Given the description of an element on the screen output the (x, y) to click on. 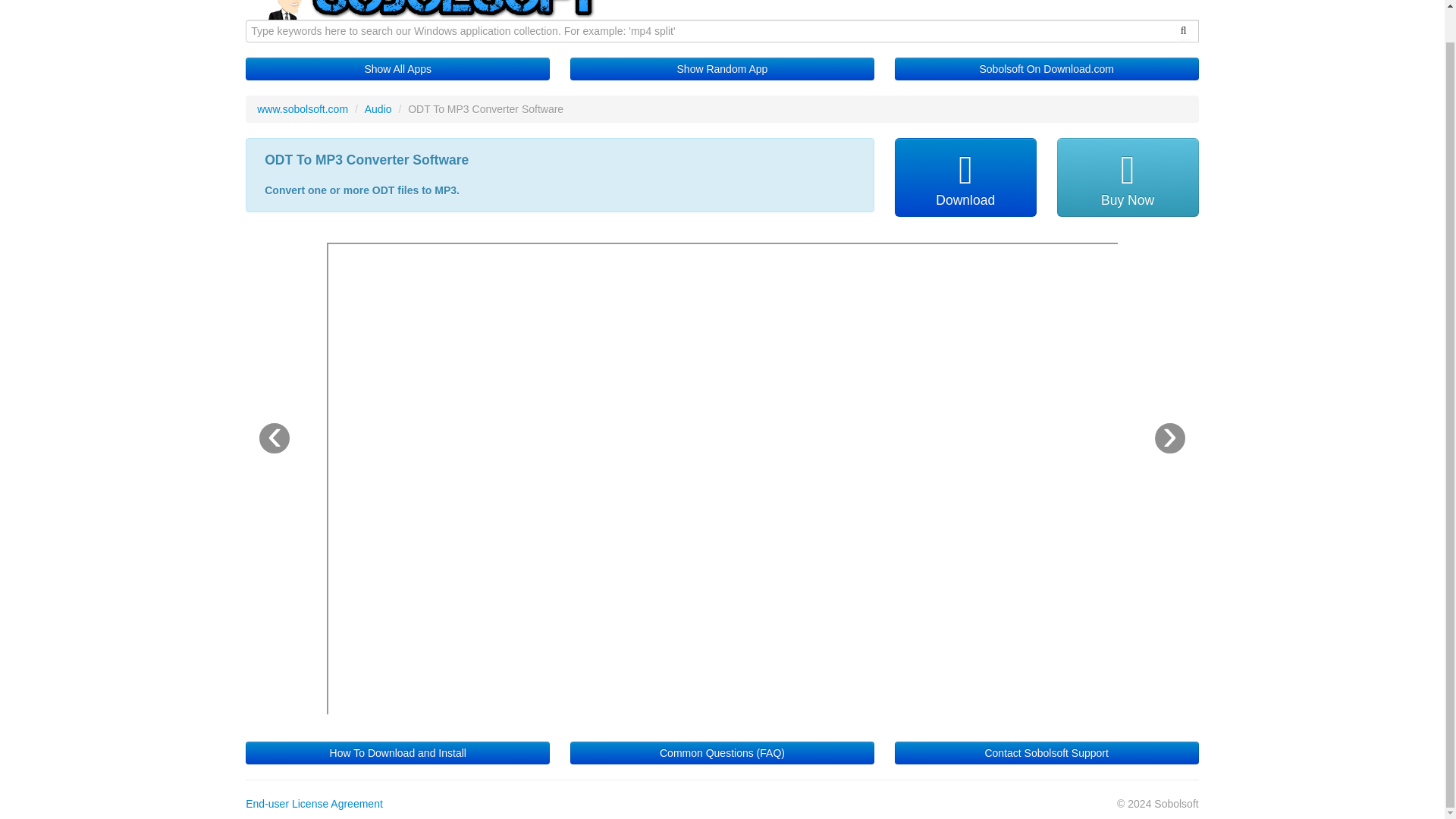
Show Random App (722, 68)
Buy Now (1127, 177)
End-user License Agreement (314, 803)
www.sobolsoft.com (302, 109)
Sobolsoft On Download.com (1046, 68)
Audio (378, 109)
Download (965, 177)
Show All Apps (398, 68)
How To Download and Install (398, 753)
Contact Sobolsoft Support (1046, 753)
